Given the description of an element on the screen output the (x, y) to click on. 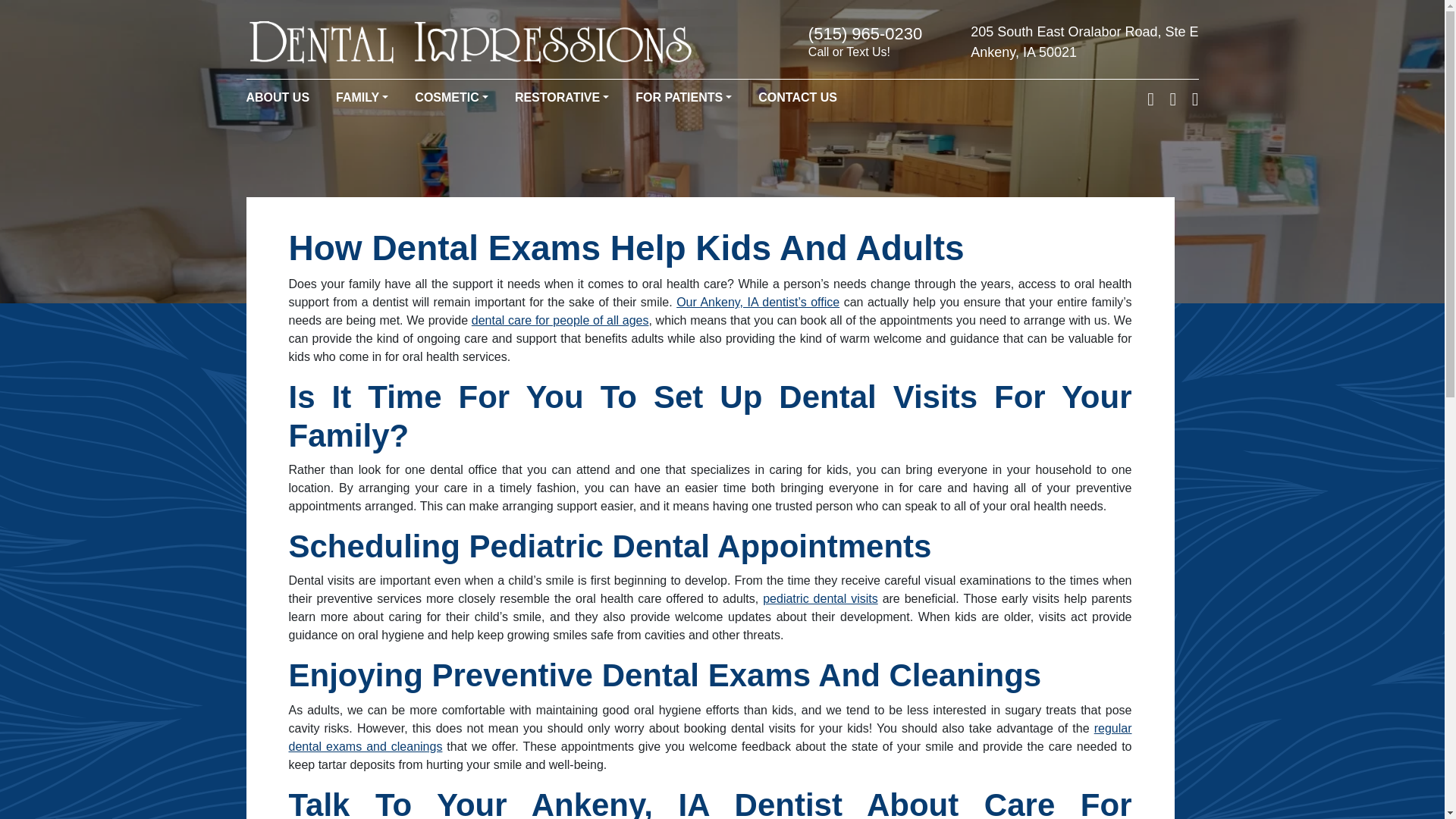
COSMETIC (450, 97)
Family (362, 97)
dental care for people of all ages (560, 319)
CONTACT US (797, 97)
ABOUT US (277, 97)
RESTORATIVE (561, 97)
Cosmetic (450, 97)
About Us (277, 97)
Restorative (561, 97)
pediatric dental visits (819, 598)
FOR PATIENTS (683, 97)
FAMILY (362, 97)
regular dental exams and cleanings (709, 736)
